Given the description of an element on the screen output the (x, y) to click on. 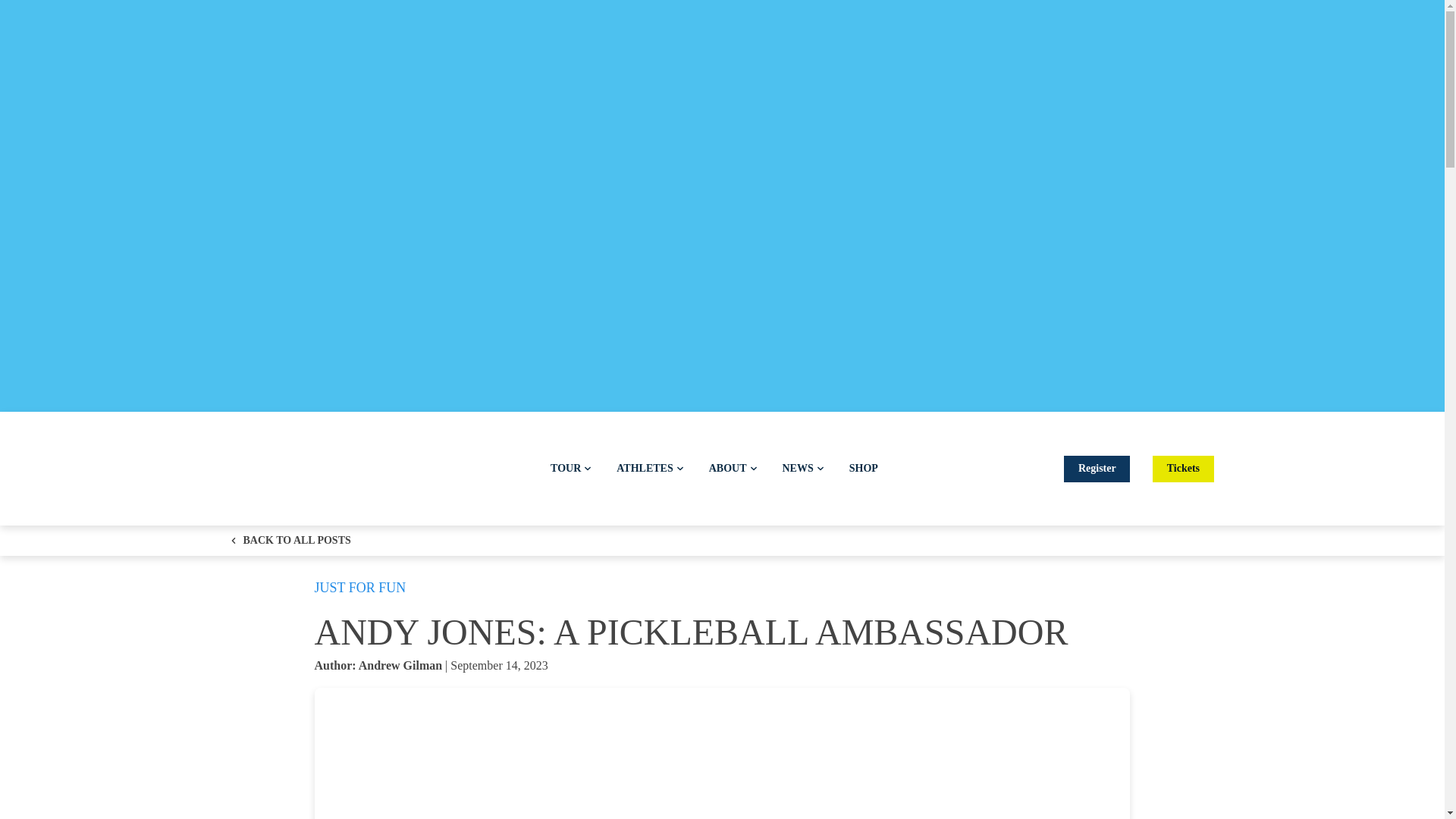
JUST FOR FUN (360, 587)
Register (1096, 469)
ATHLETES (648, 468)
BACK TO ALL POSTS (290, 540)
Tickets (1182, 469)
